Given the description of an element on the screen output the (x, y) to click on. 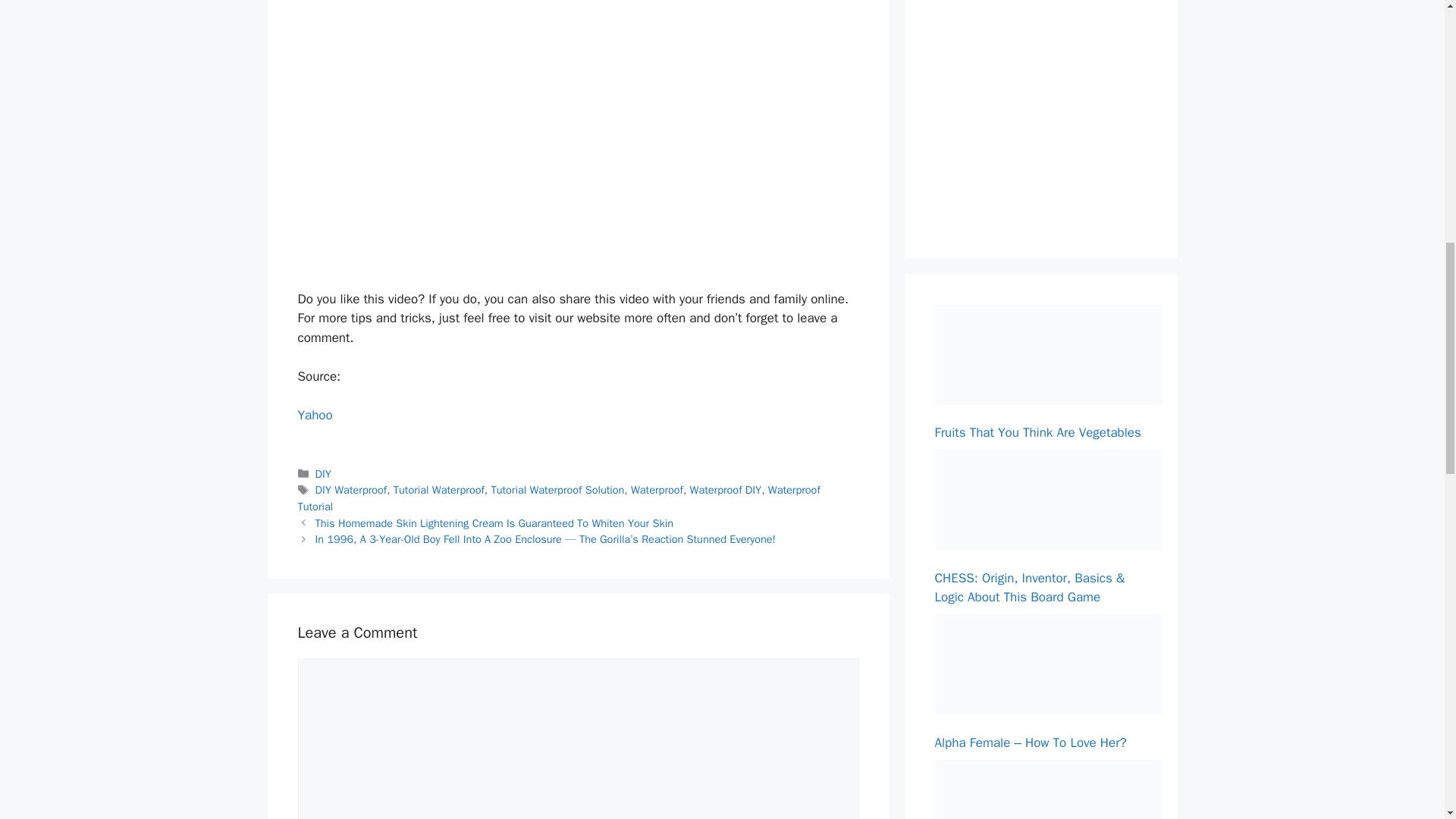
Tutorial Waterproof Solution (557, 489)
DIY (323, 473)
Yahoo (314, 415)
Waterproof Tutorial (558, 498)
Advertisement (1047, 108)
Tutorial Waterproof (438, 489)
Waterproof DIY (725, 489)
YouTube video player (511, 141)
Waterproof (656, 489)
DIY Waterproof (351, 489)
